Given the description of an element on the screen output the (x, y) to click on. 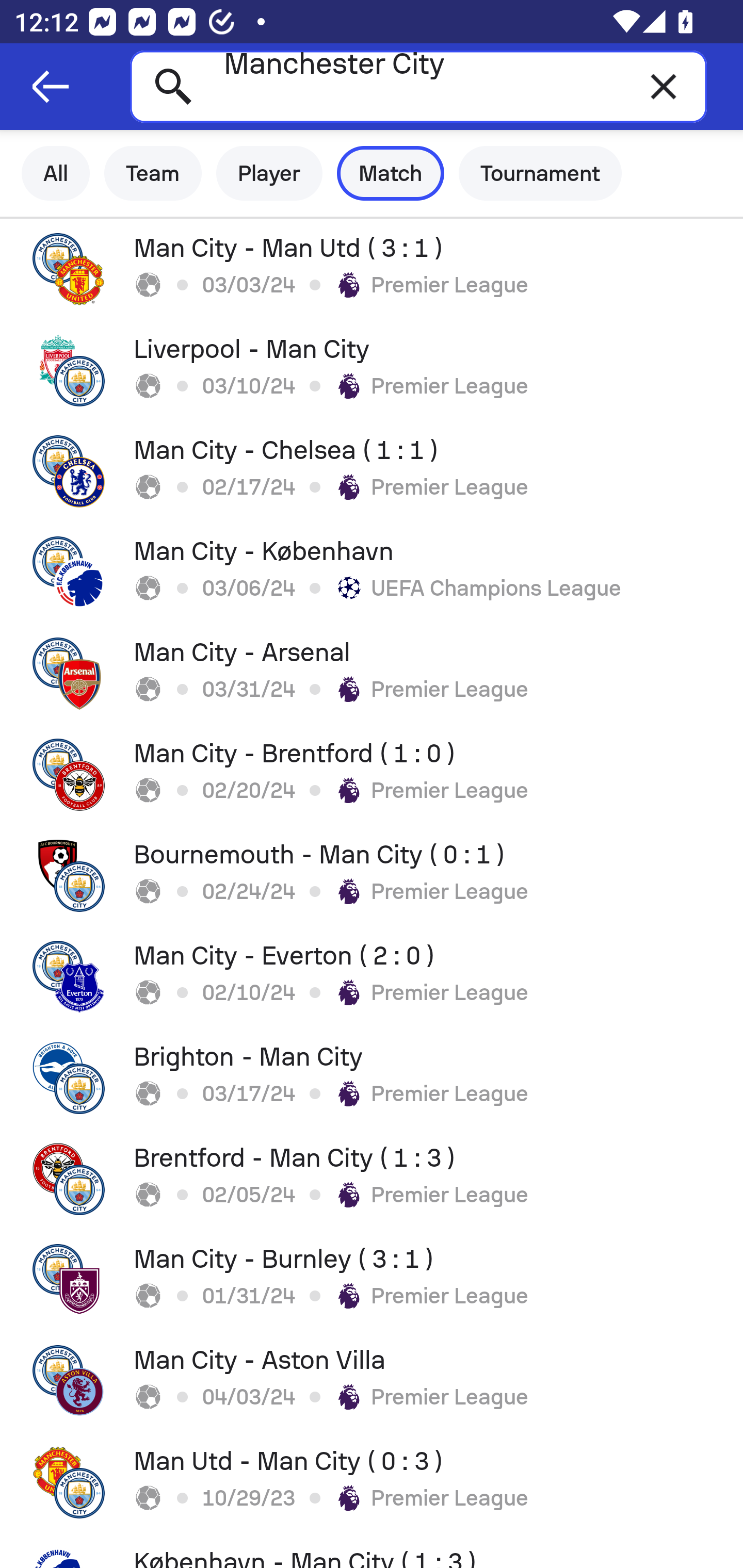
Navigate up (50, 86)
Manchester City
 (418, 86)
Clear text (663, 86)
All (55, 172)
Team (152, 172)
Player (268, 172)
Match (390, 172)
Tournament (540, 172)
Liverpool - Man City 03/10/24 Premier League (371, 369)
Man City - Arsenal 03/31/24 Premier League (371, 673)
Brighton - Man City 03/17/24 Premier League (371, 1077)
Man City - Aston Villa 04/03/24 Premier League (371, 1381)
